Given the description of an element on the screen output the (x, y) to click on. 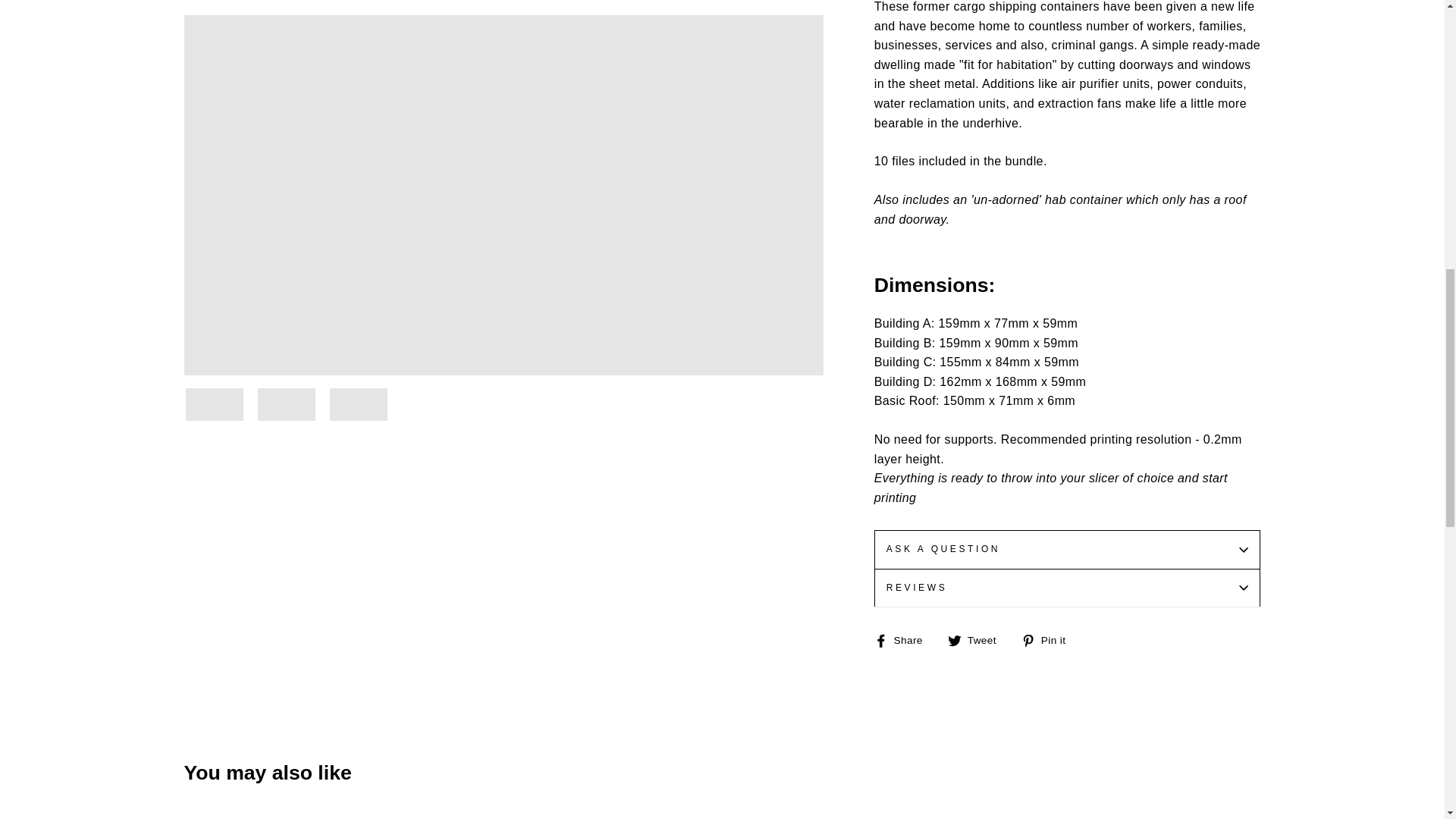
Share on Facebook (904, 639)
Tweet on Twitter (977, 639)
Pin on Pinterest (1049, 639)
